Given the description of an element on the screen output the (x, y) to click on. 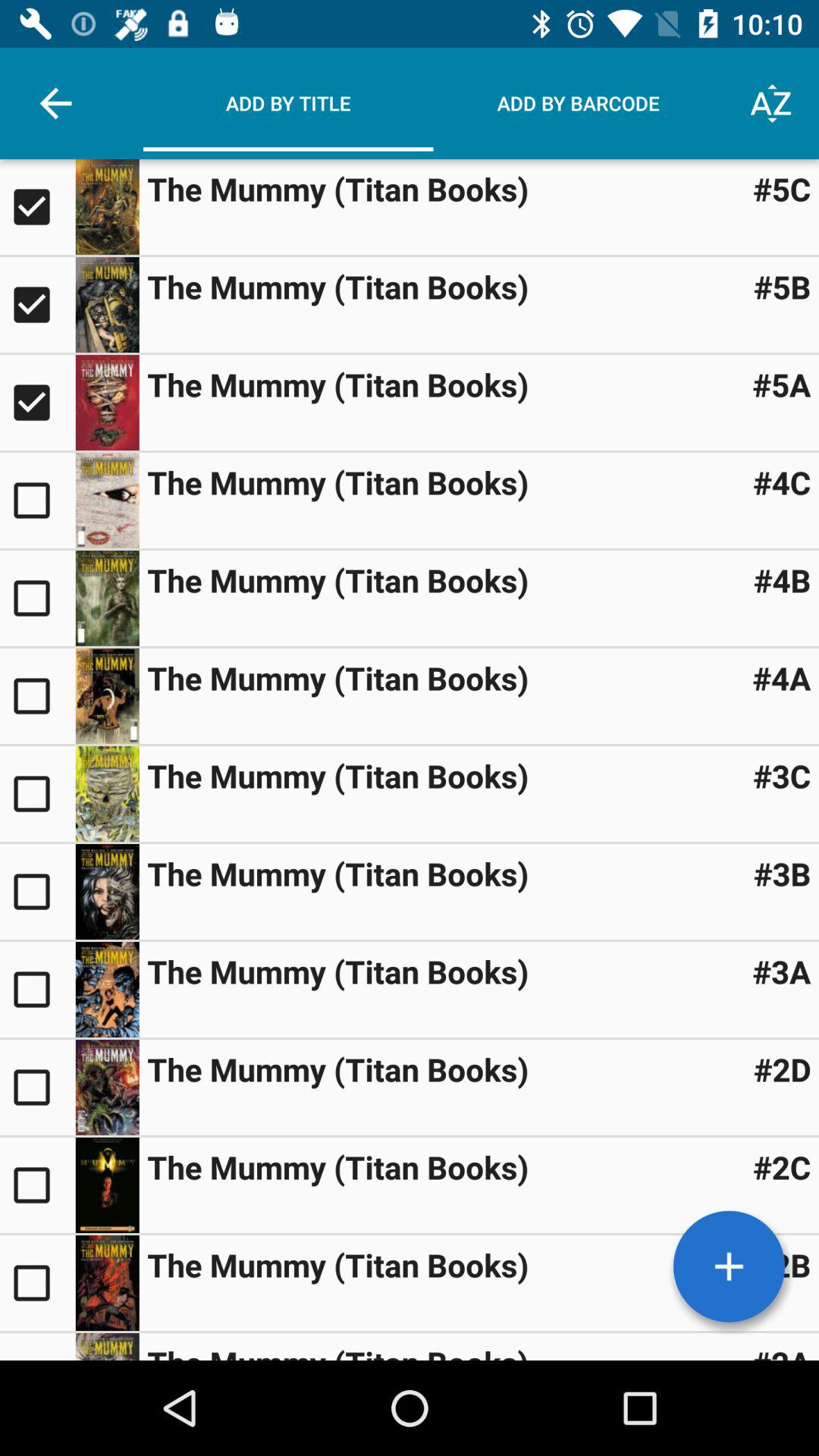
view photo (107, 402)
